Given the description of an element on the screen output the (x, y) to click on. 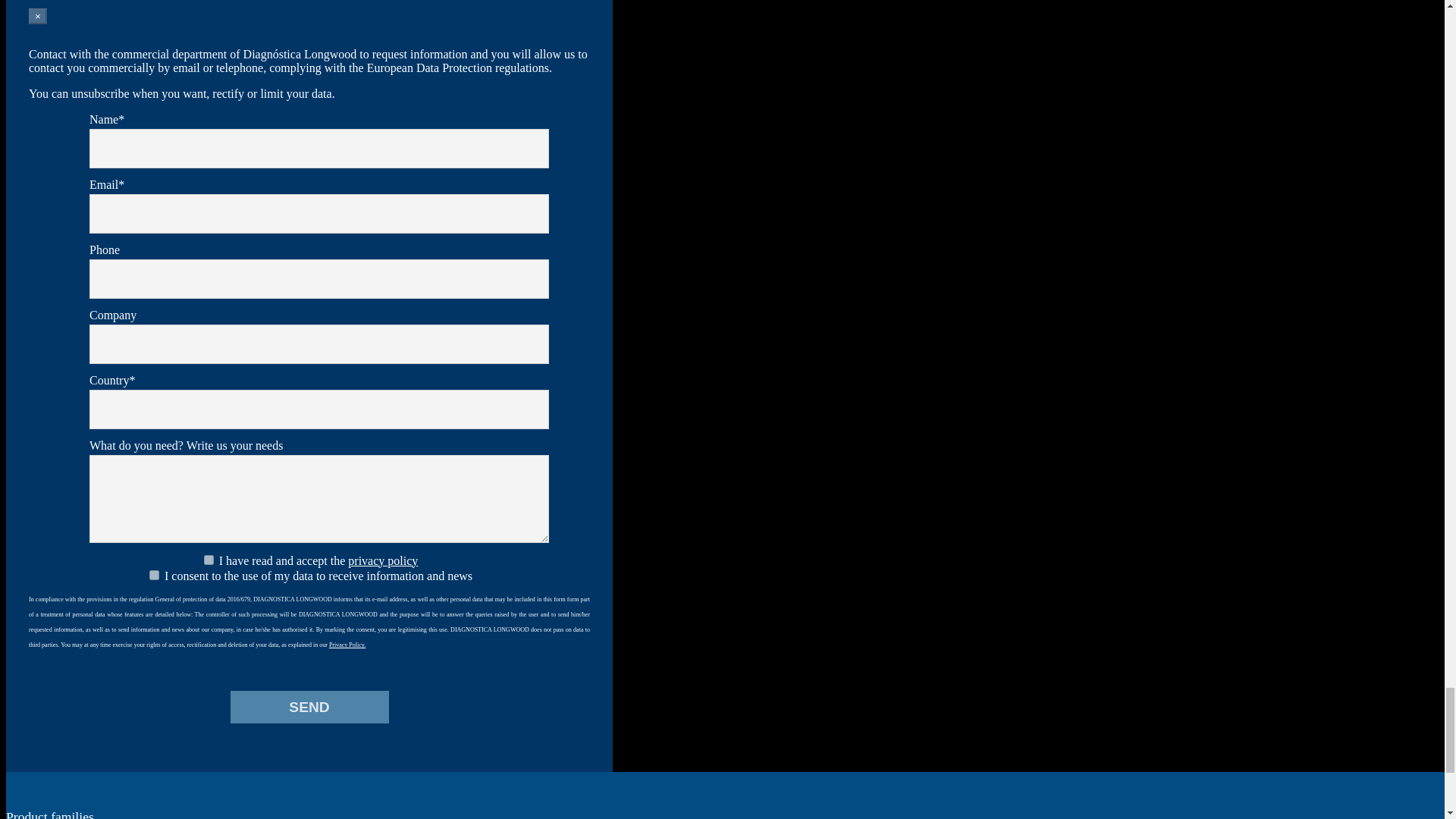
Send (309, 706)
1 (208, 560)
